Given the description of an element on the screen output the (x, y) to click on. 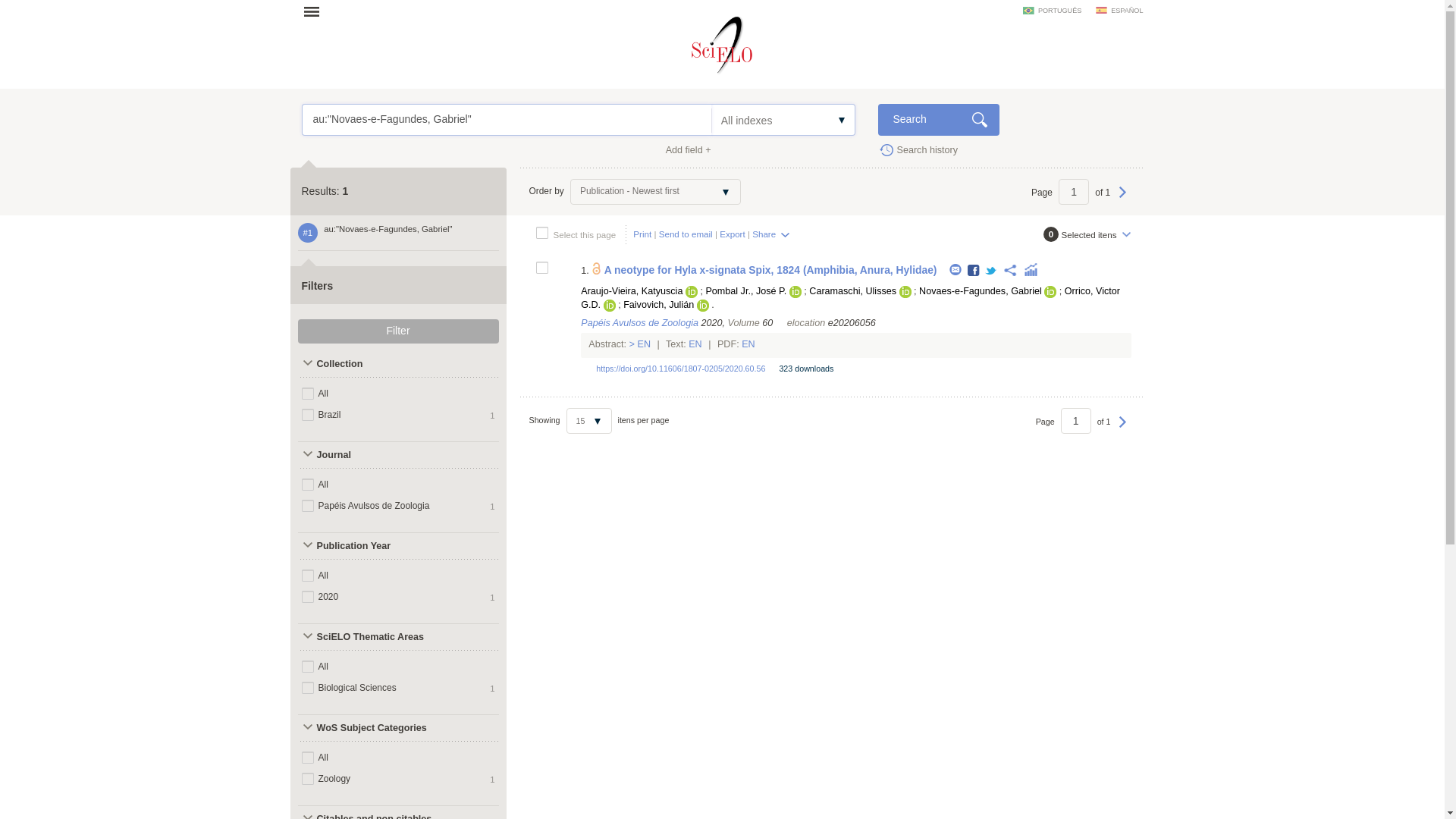
Collection (371, 364)
Export (732, 234)
Citables and non citables (371, 812)
1 (1073, 191)
1 (1075, 420)
Search (937, 119)
Search history (917, 148)
Search (937, 119)
Collection (371, 364)
Share (771, 234)
